Given the description of an element on the screen output the (x, y) to click on. 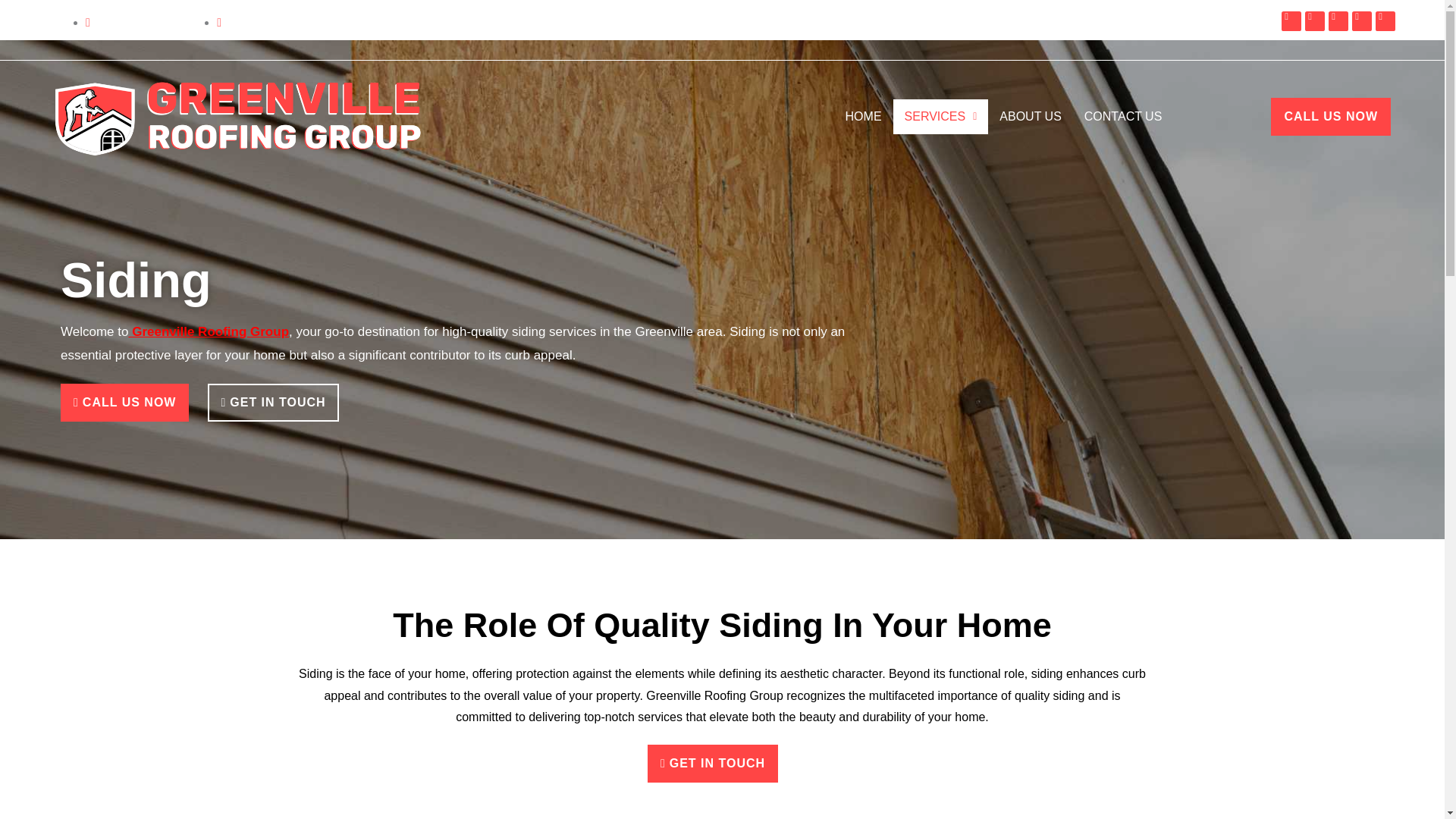
SERVICES (940, 116)
Youtube (1384, 21)
Greenville Roofing Group (208, 331)
Pinterest (1314, 21)
ABOUT US (1030, 116)
Linkedin (1337, 21)
CALL US NOW (125, 402)
CONTACT US (1123, 116)
Instagram (1361, 21)
CALL US NOW (1330, 116)
GET IN TOUCH (712, 763)
HOME (863, 116)
Facebook (1291, 21)
GET IN TOUCH (272, 402)
